Given the description of an element on the screen output the (x, y) to click on. 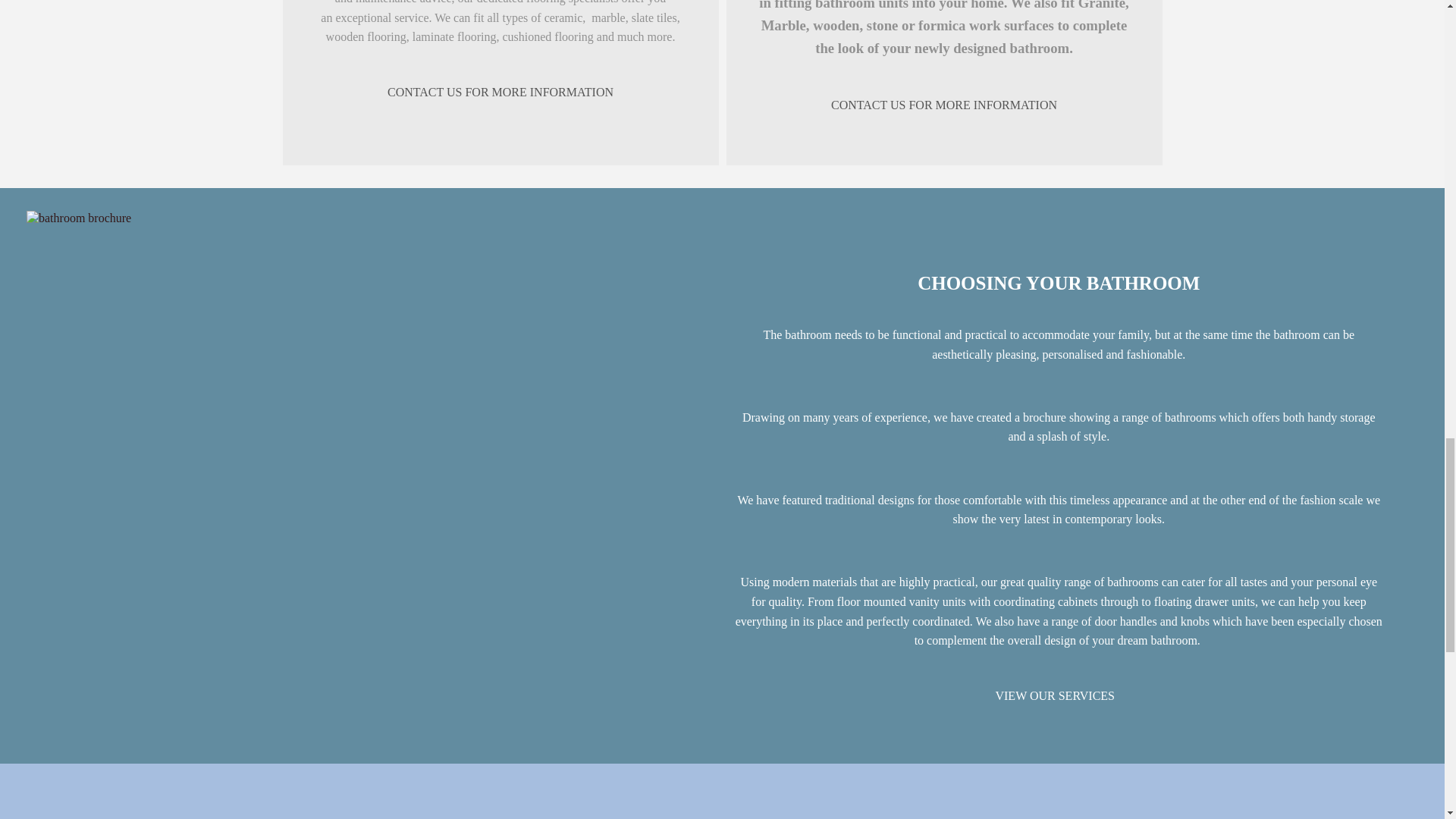
CONTACT US FOR MORE INFORMATION (500, 91)
VIEW OUR SERVICES (1054, 695)
CONTACT US FOR MORE INFORMATION (943, 104)
